Given the description of an element on the screen output the (x, y) to click on. 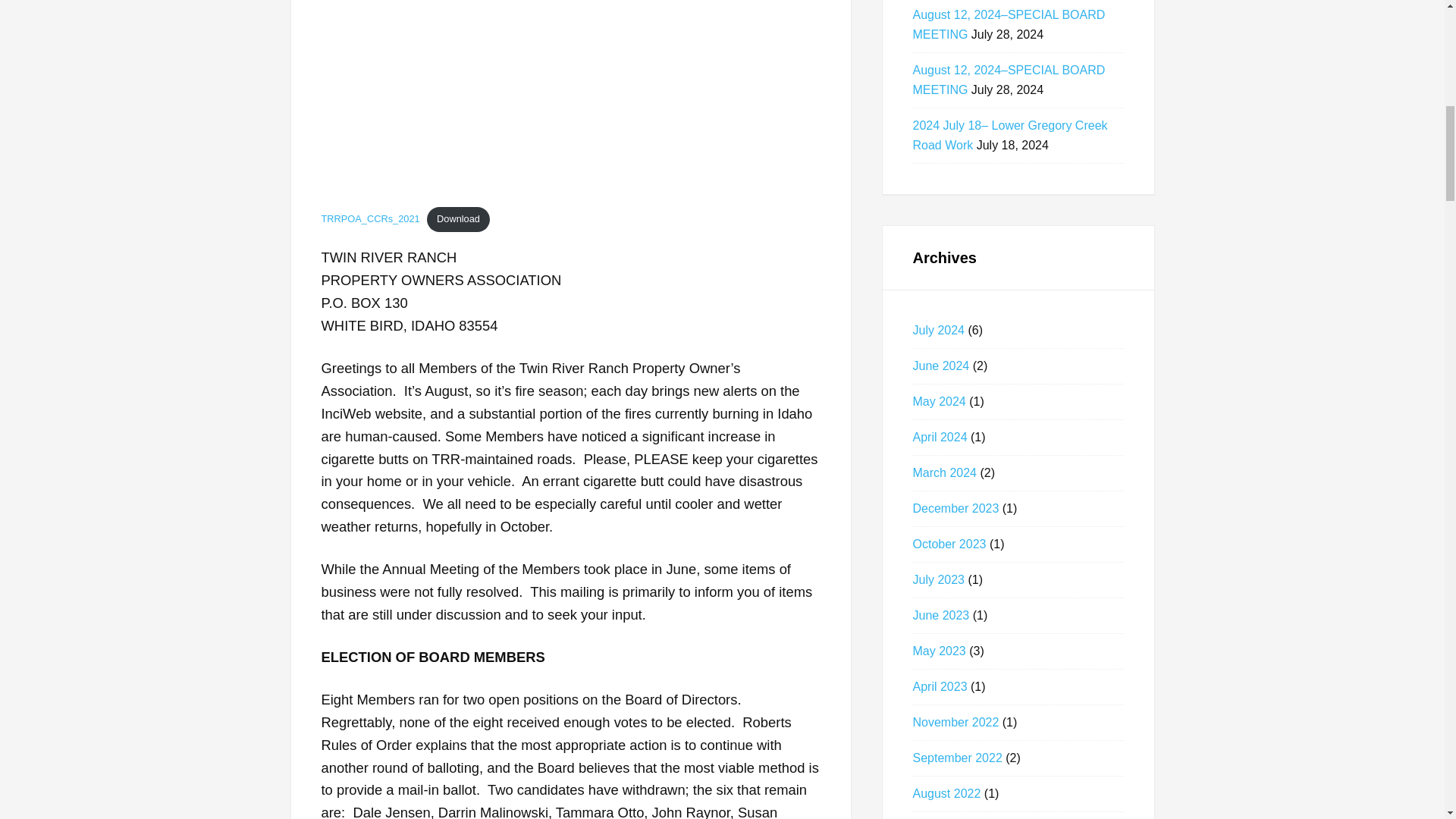
December 2023 (955, 508)
April 2024 (940, 436)
October 2023 (949, 543)
June 2024 (940, 365)
May 2024 (939, 400)
Download (457, 219)
March 2024 (944, 472)
July 2024 (938, 329)
